Given the description of an element on the screen output the (x, y) to click on. 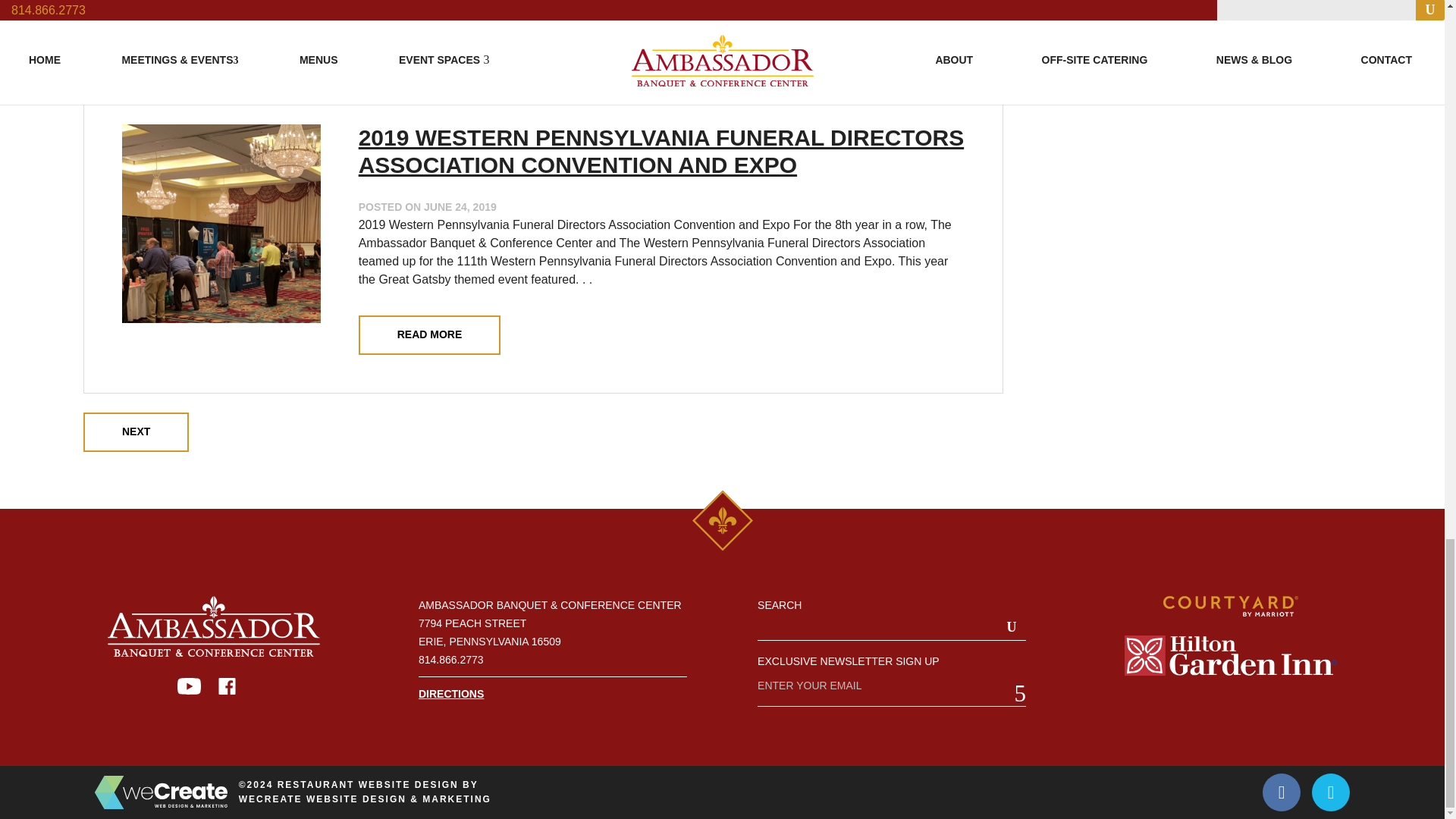
Search (1011, 627)
